Given the description of an element on the screen output the (x, y) to click on. 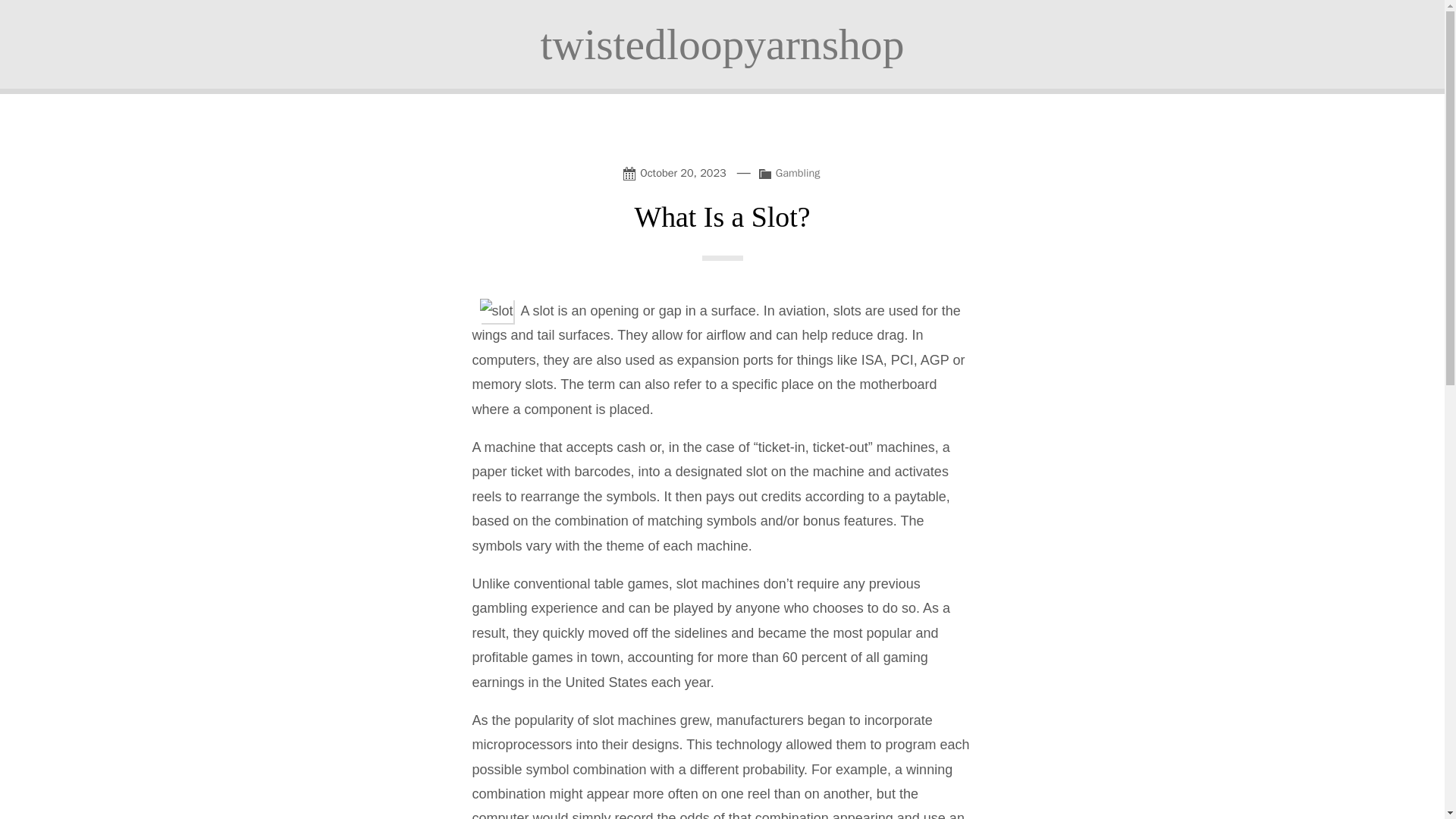
Gambling (798, 172)
twistedloopyarnshop (722, 43)
